Given the description of an element on the screen output the (x, y) to click on. 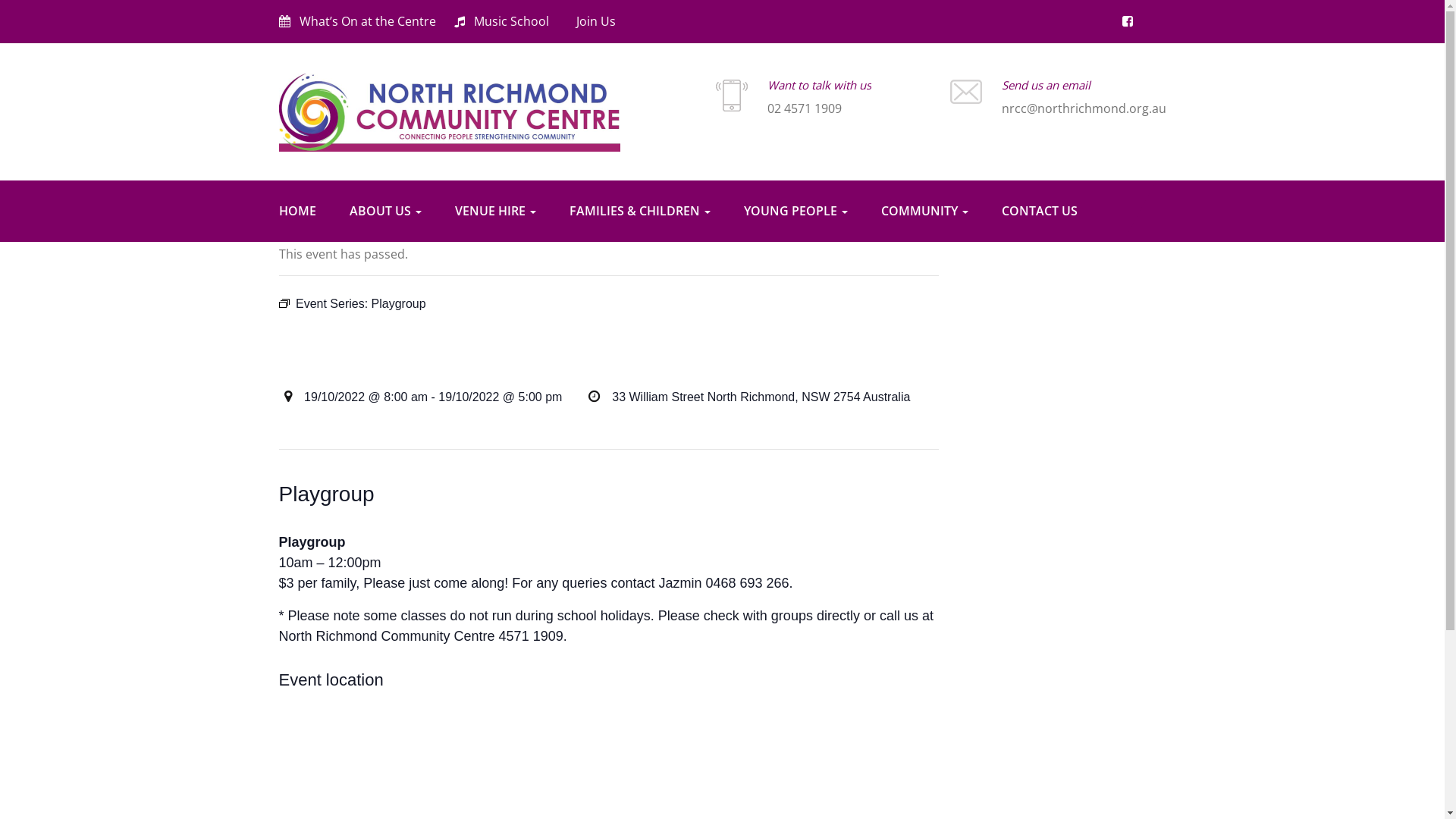
Music School Element type: text (500, 20)
Playgroup Element type: text (398, 303)
VENUE HIRE Element type: text (495, 210)
FAMILIES & CHILDREN Element type: text (638, 210)
COMMUNITY Element type: text (924, 210)
YOUNG PEOPLE Element type: text (795, 210)
Join Us Element type: text (591, 20)
ABOUT US Element type: text (384, 210)
CONTACT US Element type: text (1038, 210)
HOME Element type: text (297, 210)
